Given the description of an element on the screen output the (x, y) to click on. 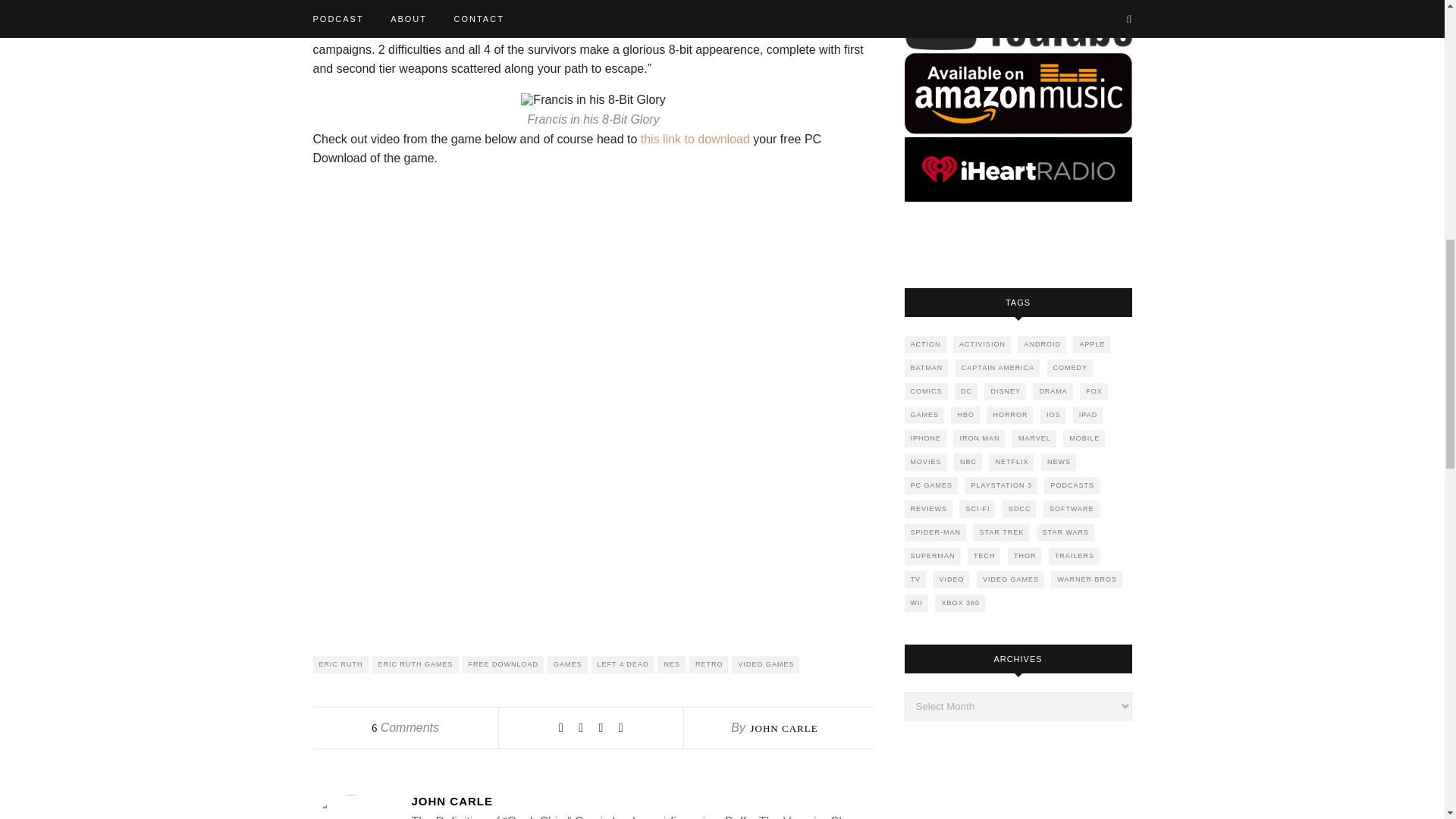
JOHN CARLE (782, 727)
ERIC RUTH (340, 664)
NES (671, 664)
LEFT 4 DEAD (622, 664)
6 Comments (405, 727)
RETRO (708, 664)
Posts by John Carle (782, 727)
FREE DOWNLOAD (503, 664)
Posts by John Carle (641, 800)
JOHN CARLE (641, 800)
VIDEO GAMES (765, 664)
ERIC RUTH GAMES (414, 664)
this link to download (697, 138)
GAMES (567, 664)
